Given the description of an element on the screen output the (x, y) to click on. 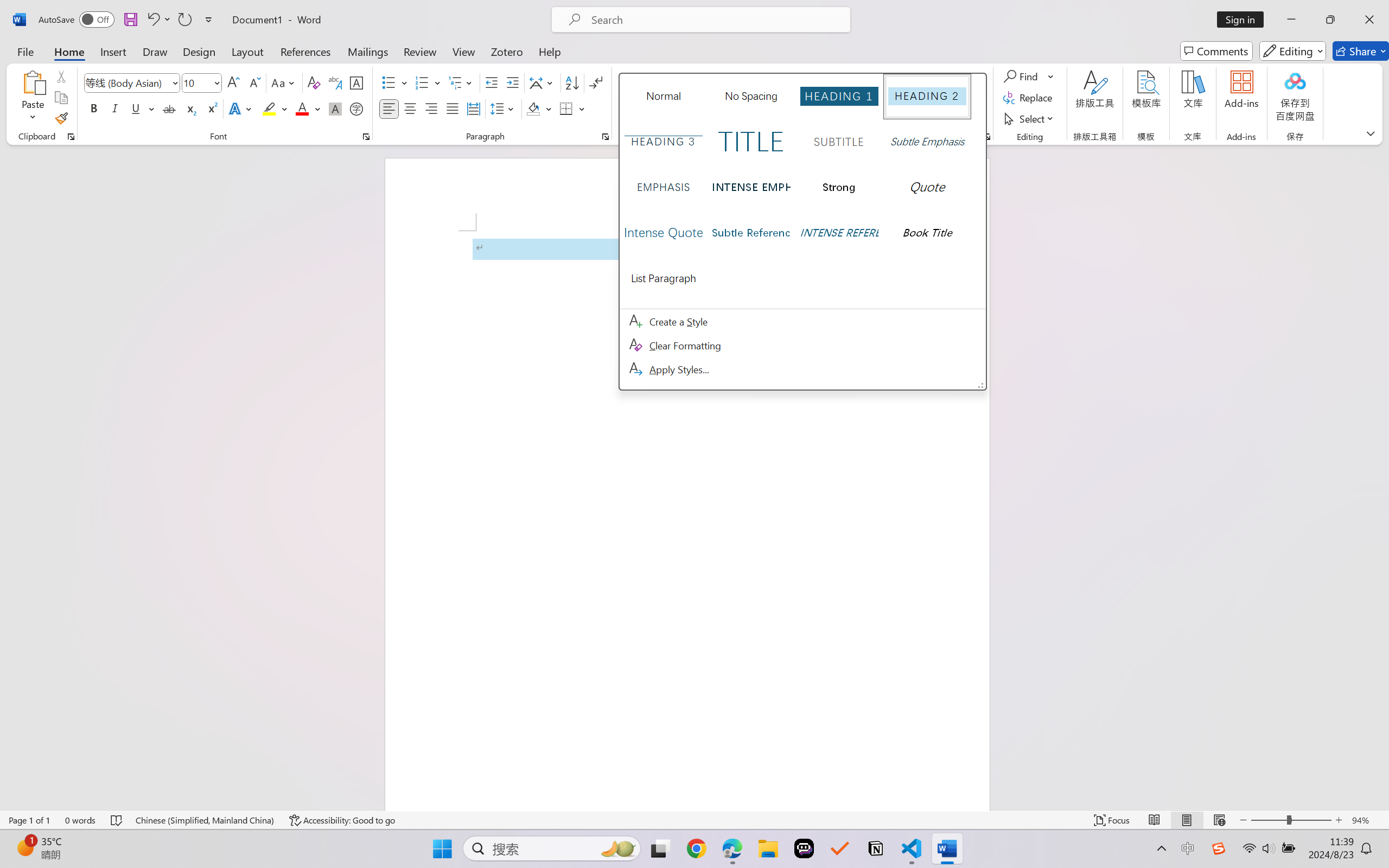
Shading No Color (533, 108)
Language Chinese (Simplified, Mainland China) (205, 819)
